Given the description of an element on the screen output the (x, y) to click on. 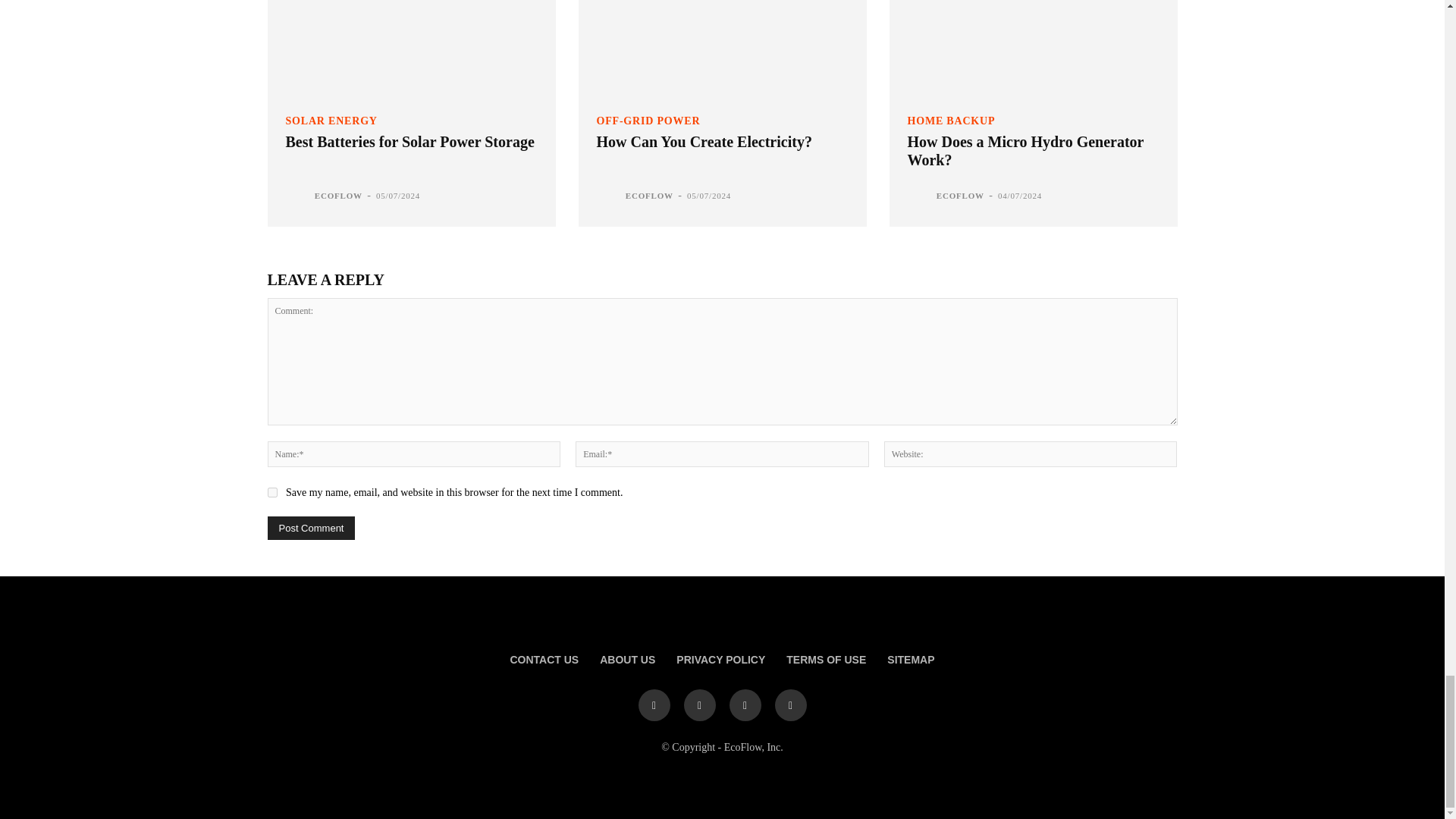
yes (271, 492)
Post Comment (310, 527)
